Given the description of an element on the screen output the (x, y) to click on. 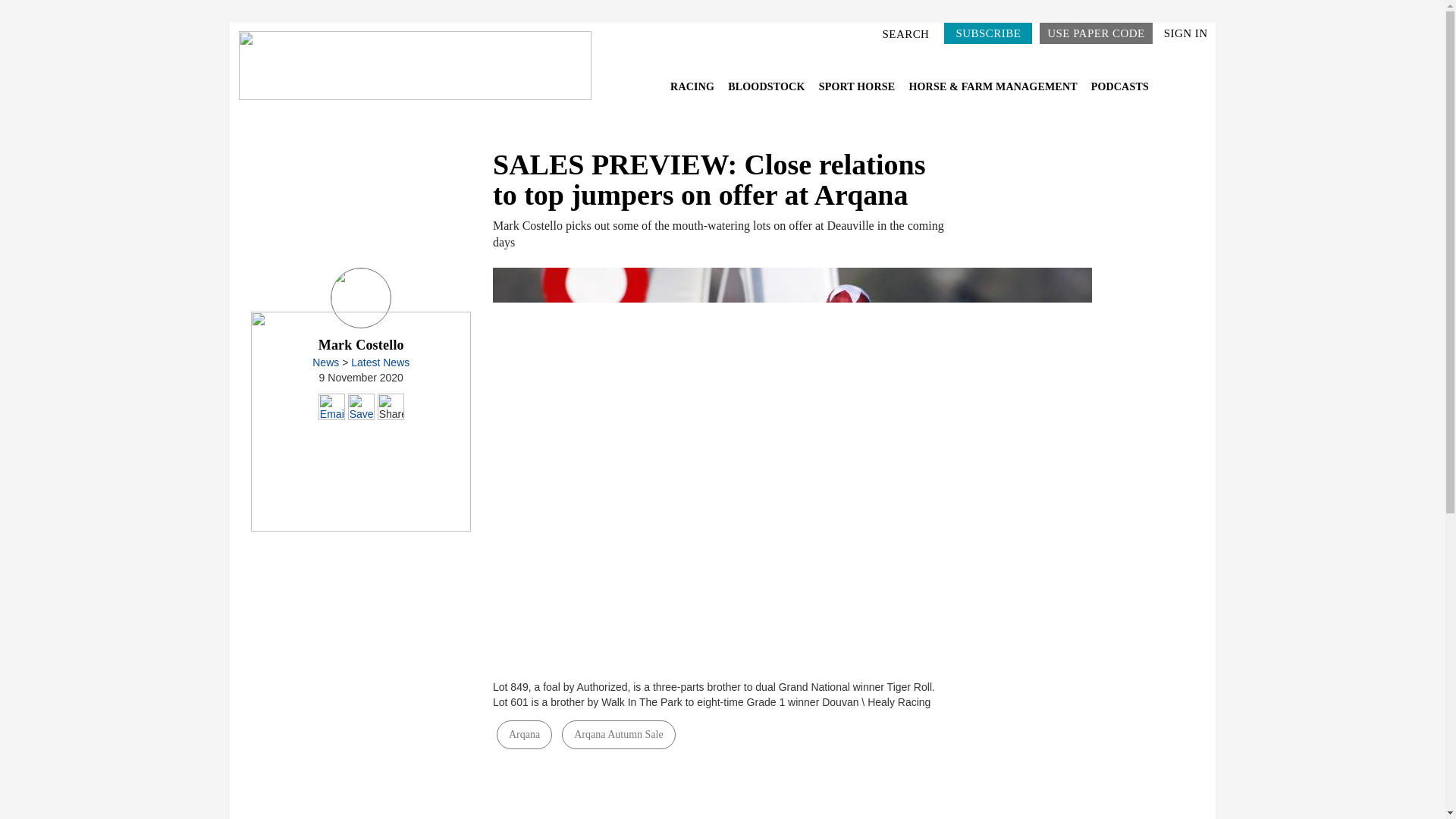
BLOODSTOCK (768, 86)
Share this article (390, 406)
PODCASTS (1119, 86)
Save this article (360, 406)
Email the writer (331, 406)
SPORT HORSE (858, 86)
USE PAPER CODE (1095, 33)
SEARCH (909, 33)
SUBSCRIBE (987, 33)
RACING (693, 86)
